Given the description of an element on the screen output the (x, y) to click on. 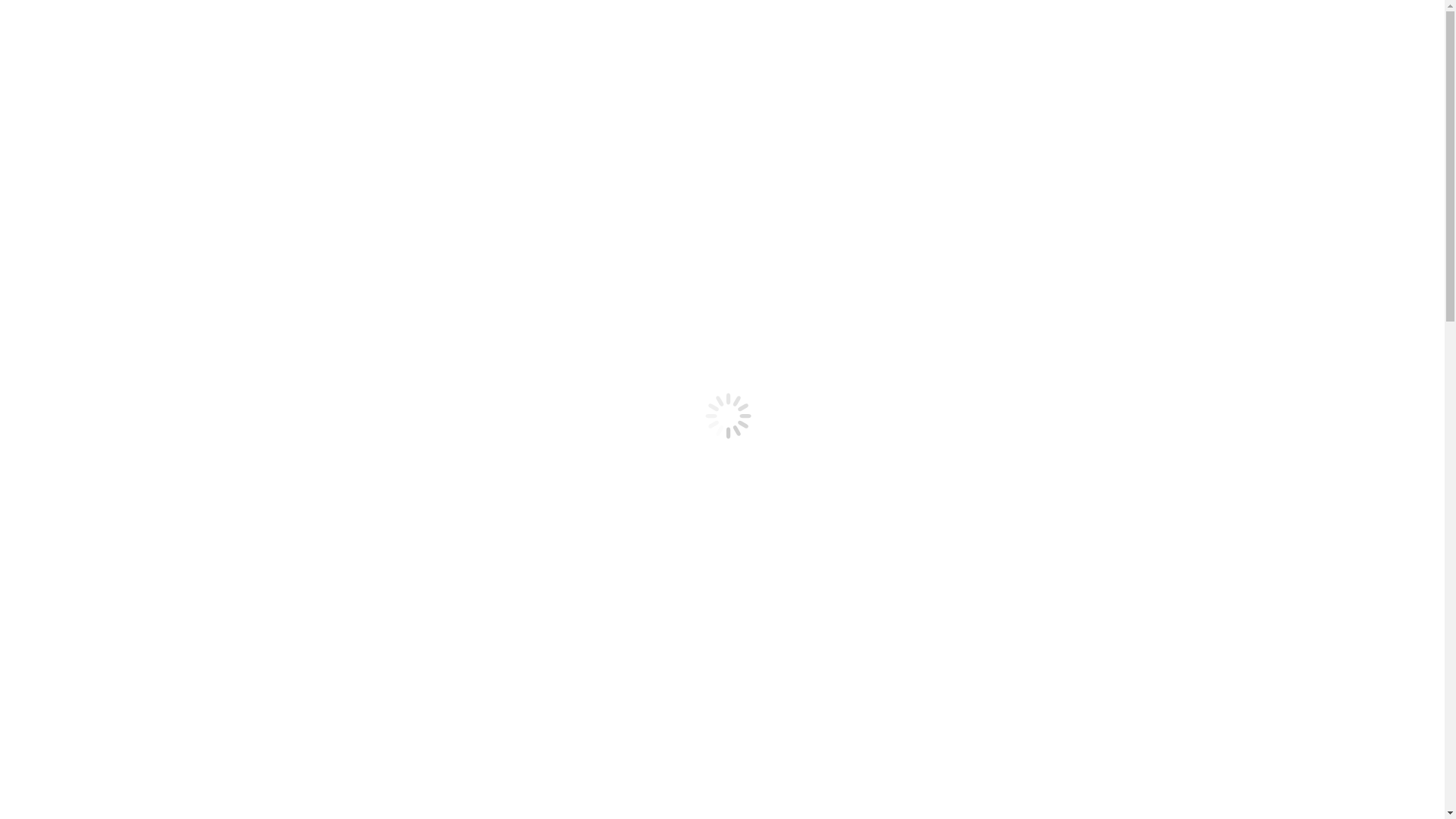
Legislation Element type: text (63, 749)
About Element type: text (51, 351)
Resources Element type: text (61, 695)
Breach Notification Decisions Element type: text (139, 627)
Decisions Element type: text (60, 558)
Other Reports Element type: text (100, 188)
Respectful Workplace Policy Element type: text (136, 474)
Breach Notification Decisions Element type: text (139, 160)
Judicial Reviews Element type: text (107, 599)
News Element type: text (49, 708)
News Releases Element type: text (102, 256)
Compensation Disclosure Element type: text (128, 433)
Orders Element type: text (83, 106)
External Adjudication Orders Element type: text (137, 201)
Events Element type: text (83, 736)
Contact Us Element type: text (93, 379)
Health Information Act (HIA) Element type: text (139, 310)
Resources Element type: text (61, 228)
Annual Reports & Business Plans Element type: text (148, 420)
Other Decisions Element type: text (105, 586)
Decisions Element type: text (60, 92)
Go! Element type: text (227, 519)
Freedom of Information and Protection of Privacy Act (FOIP) Element type: text (216, 297)
Disability Accommodation Policy Element type: text (149, 461)
About the OIPC Element type: text (105, 365)
Legislation Element type: text (63, 283)
Skip to content Element type: text (42, 12)
Requests to Disregard Element type: text (119, 174)
Investigation Reports Element type: text (118, 613)
Judicial Reviews Element type: text (107, 133)
Requests to Disregard Element type: text (119, 640)
Forms Element type: text (51, 681)
Commissioner Element type: text (101, 406)
Health Information Act (HIA) Element type: text (139, 777)
Forms Element type: text (51, 215)
Other Reports Element type: text (100, 654)
Personal Information Protection Act (PIPA) Element type: text (172, 324)
News Element type: text (49, 242)
Events Element type: text (83, 269)
Access to Motor Vehicle Information Regulation (AMVIR) Element type: text (210, 338)
Privacy Policy Element type: text (102, 488)
Orders Element type: text (83, 572)
Personal Information Protection Act (PIPA) Element type: text (172, 790)
Freedom of Information and Protection of Privacy Act (FOIP) Element type: text (216, 763)
External Adjudication Orders Element type: text (137, 668)
Travel & Expenses Disclosure Element type: text (140, 447)
News Releases Element type: text (102, 722)
Access to Motor Vehicle Information Regulation (AMVIR) Element type: text (210, 804)
Employment Opportunities Element type: text (132, 392)
Investigation Reports Element type: text (118, 147)
Other Decisions Element type: text (105, 119)
